Given the description of an element on the screen output the (x, y) to click on. 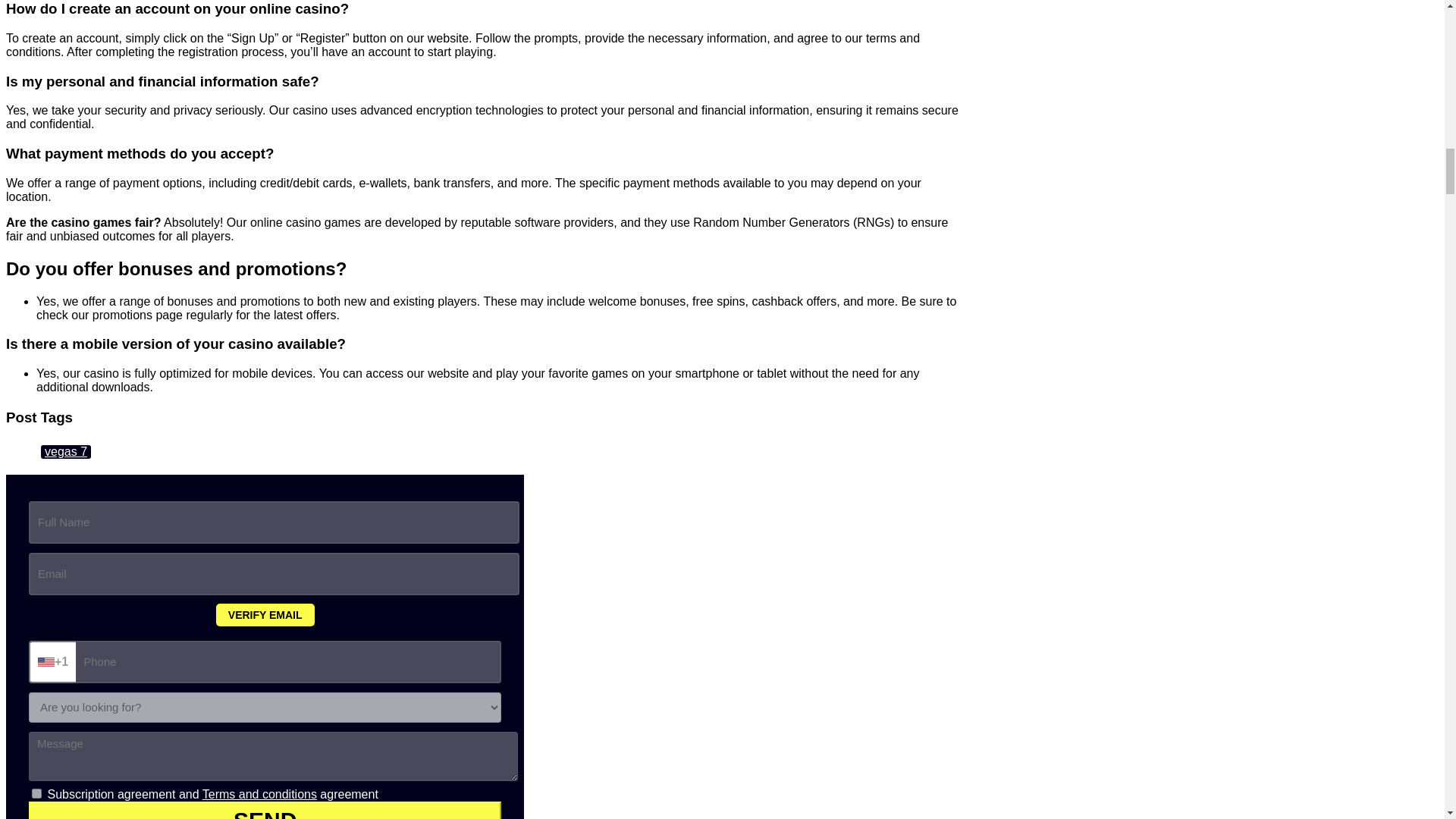
vegas 7 (65, 451)
Send (264, 810)
Send (264, 810)
Terms and conditions (259, 793)
1 (37, 793)
